Given the description of an element on the screen output the (x, y) to click on. 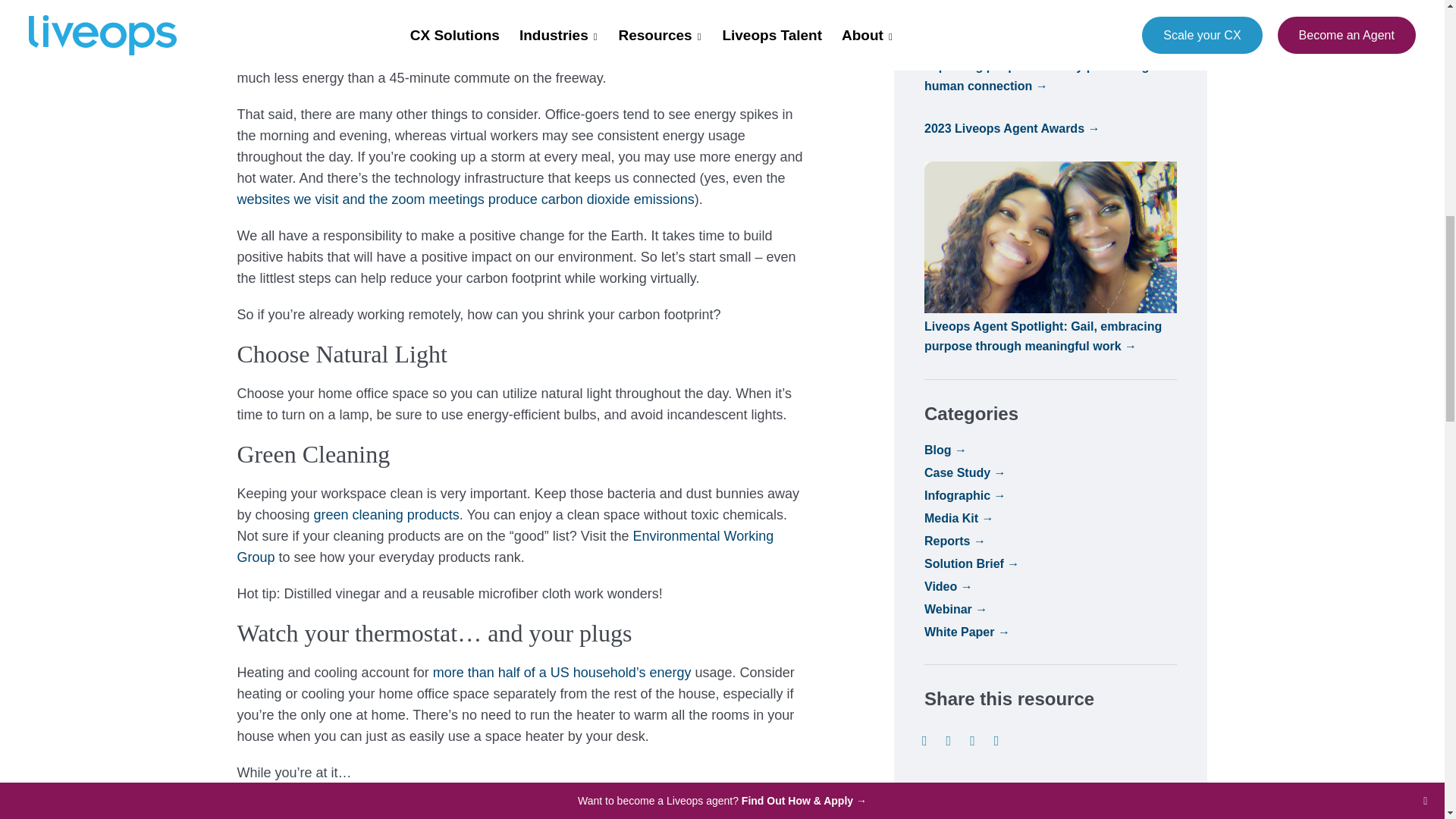
Environmental Working Group (504, 546)
green cleaning products (387, 514)
